Given the description of an element on the screen output the (x, y) to click on. 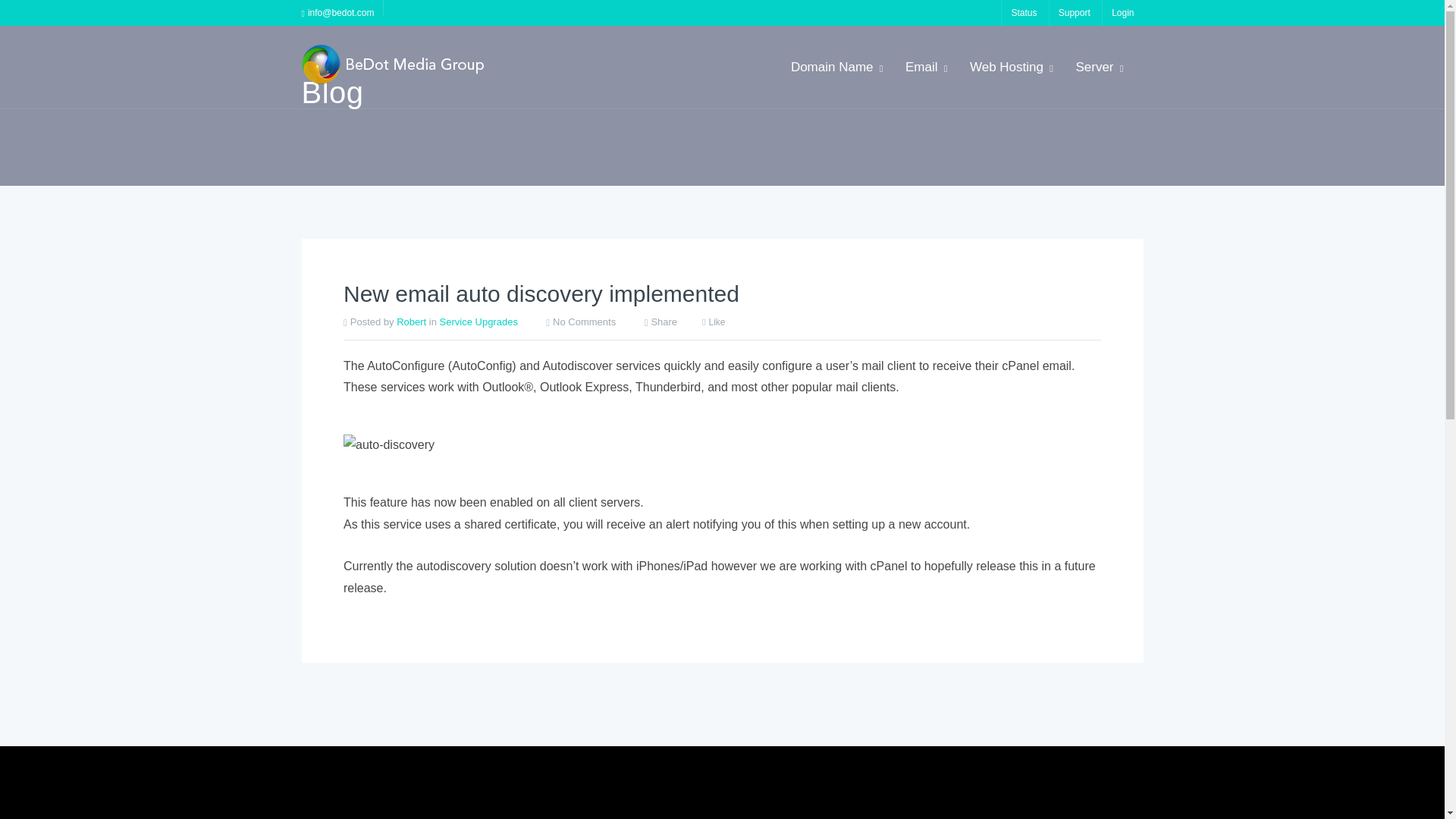
Login (1122, 12)
Support (1073, 12)
New email auto discovery implemented (541, 292)
Server (1098, 66)
Web Hosting (1010, 66)
Domain Name (835, 66)
Status (1023, 12)
Like (713, 321)
Service Upgrades (478, 320)
Email (924, 66)
Like (713, 321)
Robert (411, 320)
